Given the description of an element on the screen output the (x, y) to click on. 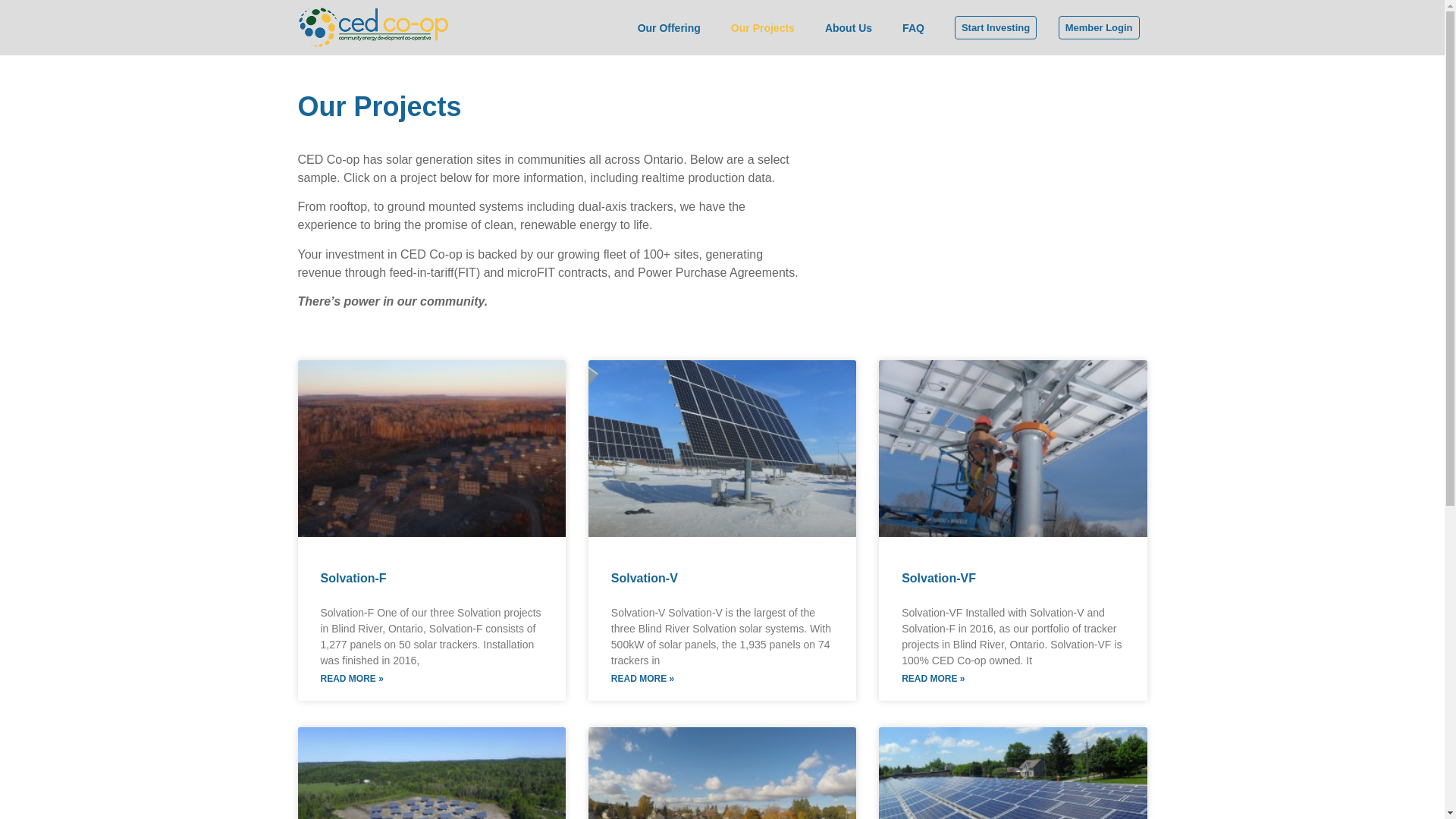
Our Offering (669, 27)
Solvation-F (352, 577)
Start Investing (995, 27)
Member Login (1099, 27)
About Us (847, 27)
CED-Logo-Site (372, 27)
Solvation-VF (938, 577)
Our Projects (762, 27)
FAQ (912, 27)
Solvation-V (644, 577)
